Given the description of an element on the screen output the (x, y) to click on. 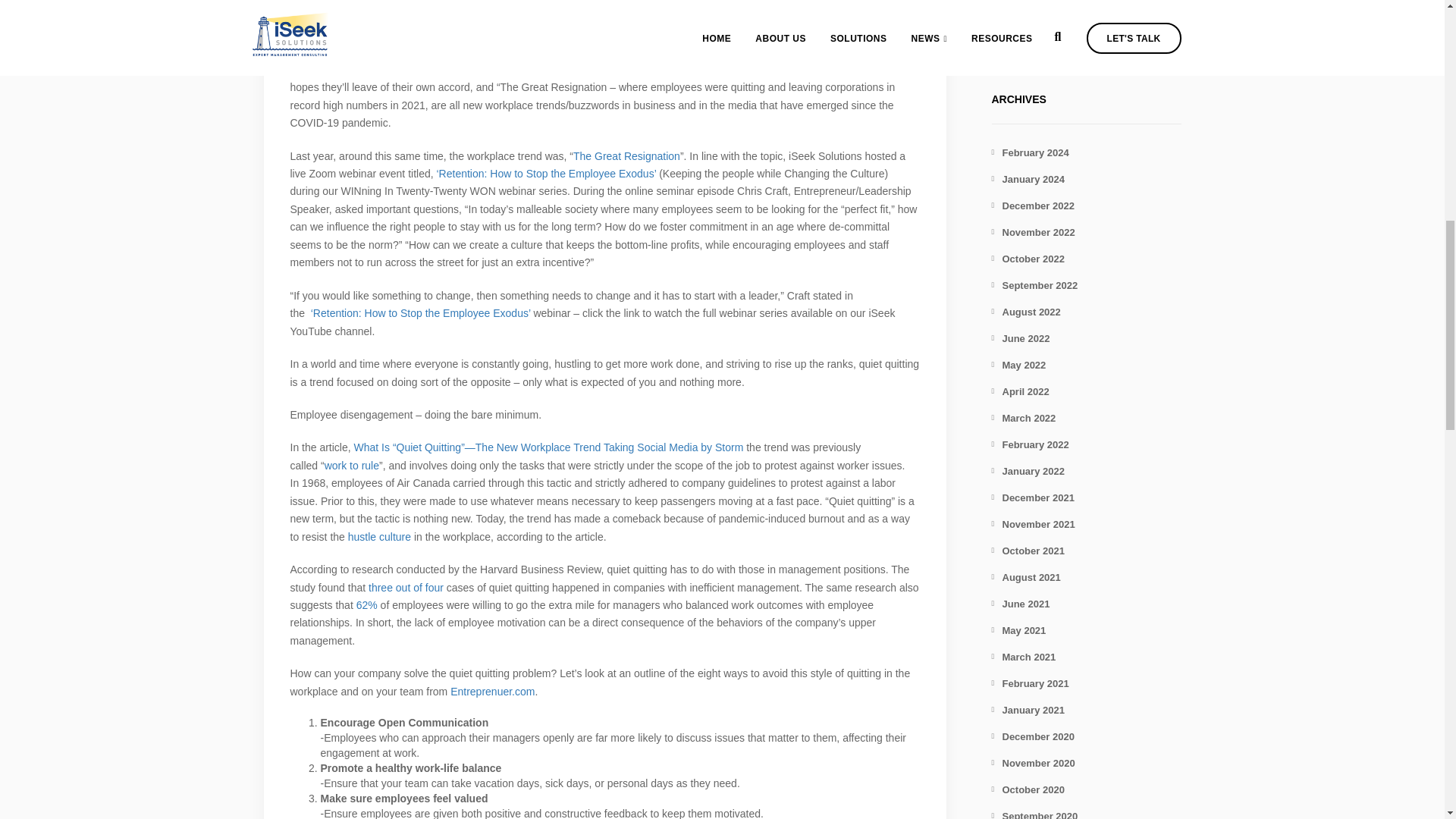
Quietly Quitting (1034, 39)
three out of four (406, 587)
January 2024 (1027, 179)
Quietly Quitting (603, 8)
hustle culture (378, 536)
The Great Resignation (626, 155)
November 2022 (1033, 232)
February 2024 (1029, 152)
Quietly Quitting (603, 8)
Entreprenuer.com (491, 691)
